Given the description of an element on the screen output the (x, y) to click on. 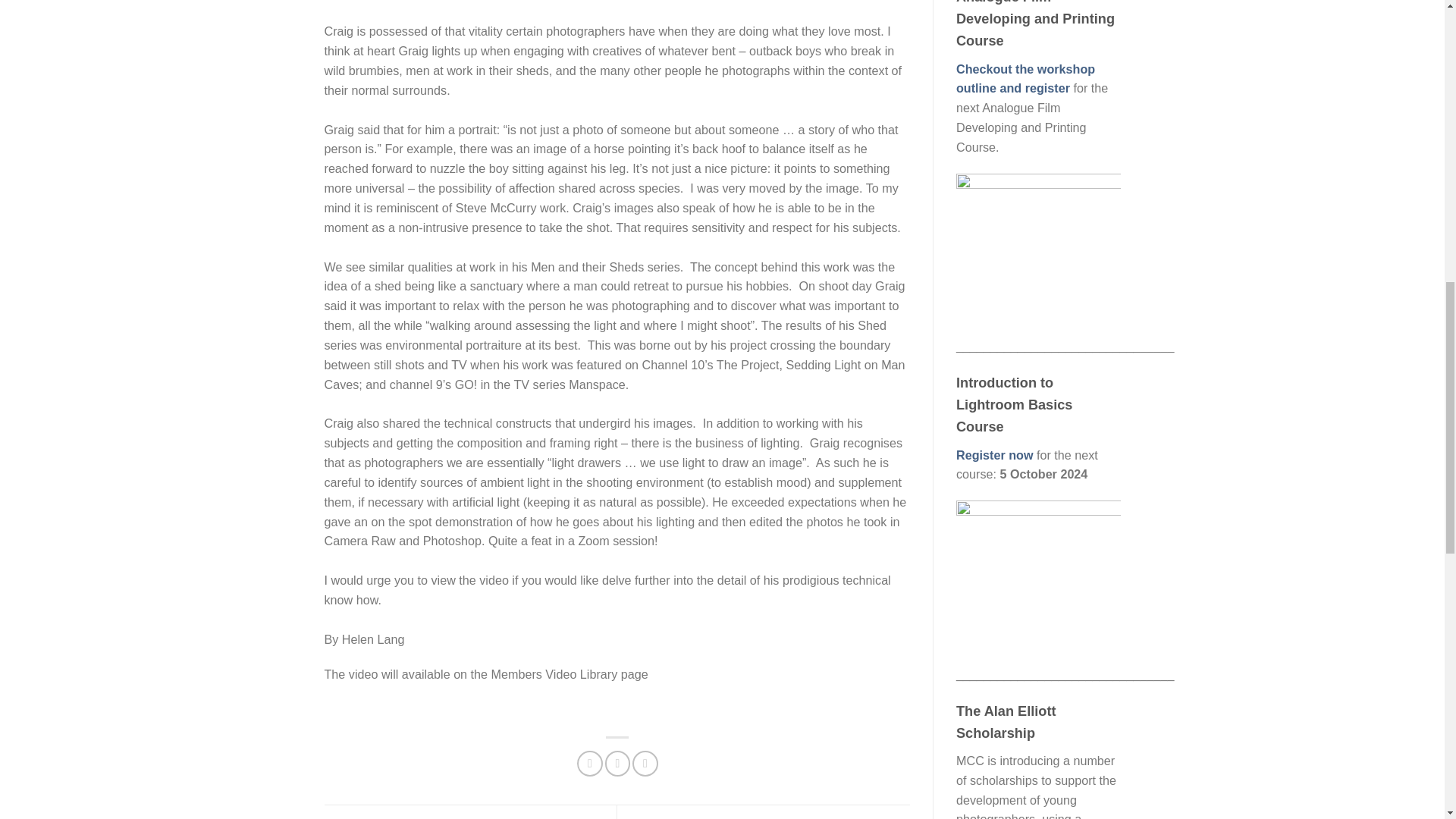
Share on Twitter (617, 763)
Share on Facebook (589, 763)
Email to a Friend (644, 763)
